Given the description of an element on the screen output the (x, y) to click on. 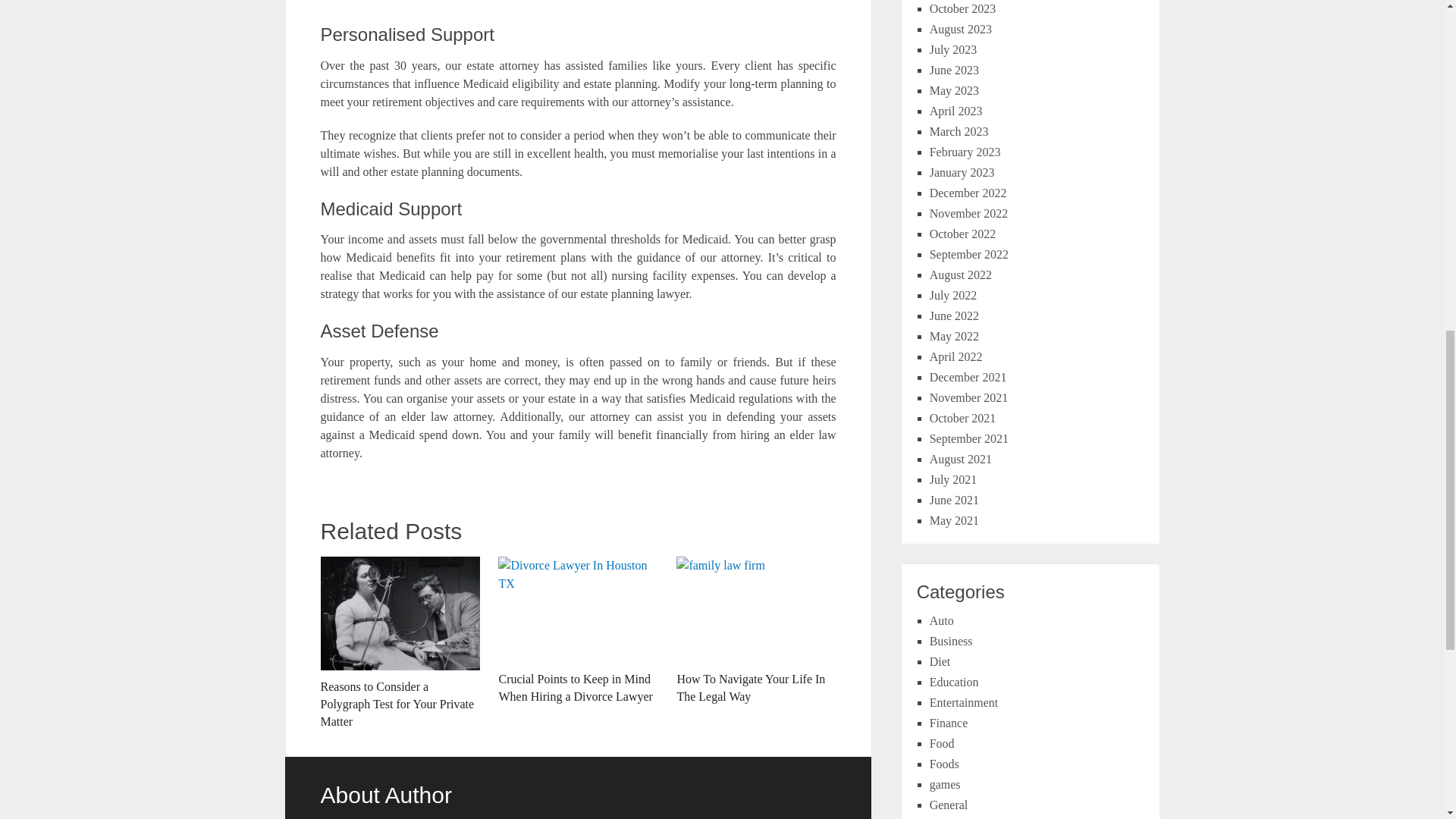
Crucial Points to Keep in Mind When Hiring a Divorce Lawyer (577, 630)
May 2023 (954, 90)
August 2023 (960, 29)
July 2023 (953, 49)
How To Navigate Your Life In The Legal Way (756, 630)
October 2023 (962, 8)
June 2023 (954, 69)
Crucial Points to Keep in Mind When Hiring a Divorce Lawyer (577, 630)
Reasons to Consider a Polygraph Test for Your Private Matter (399, 643)
April 2023 (956, 110)
